Given the description of an element on the screen output the (x, y) to click on. 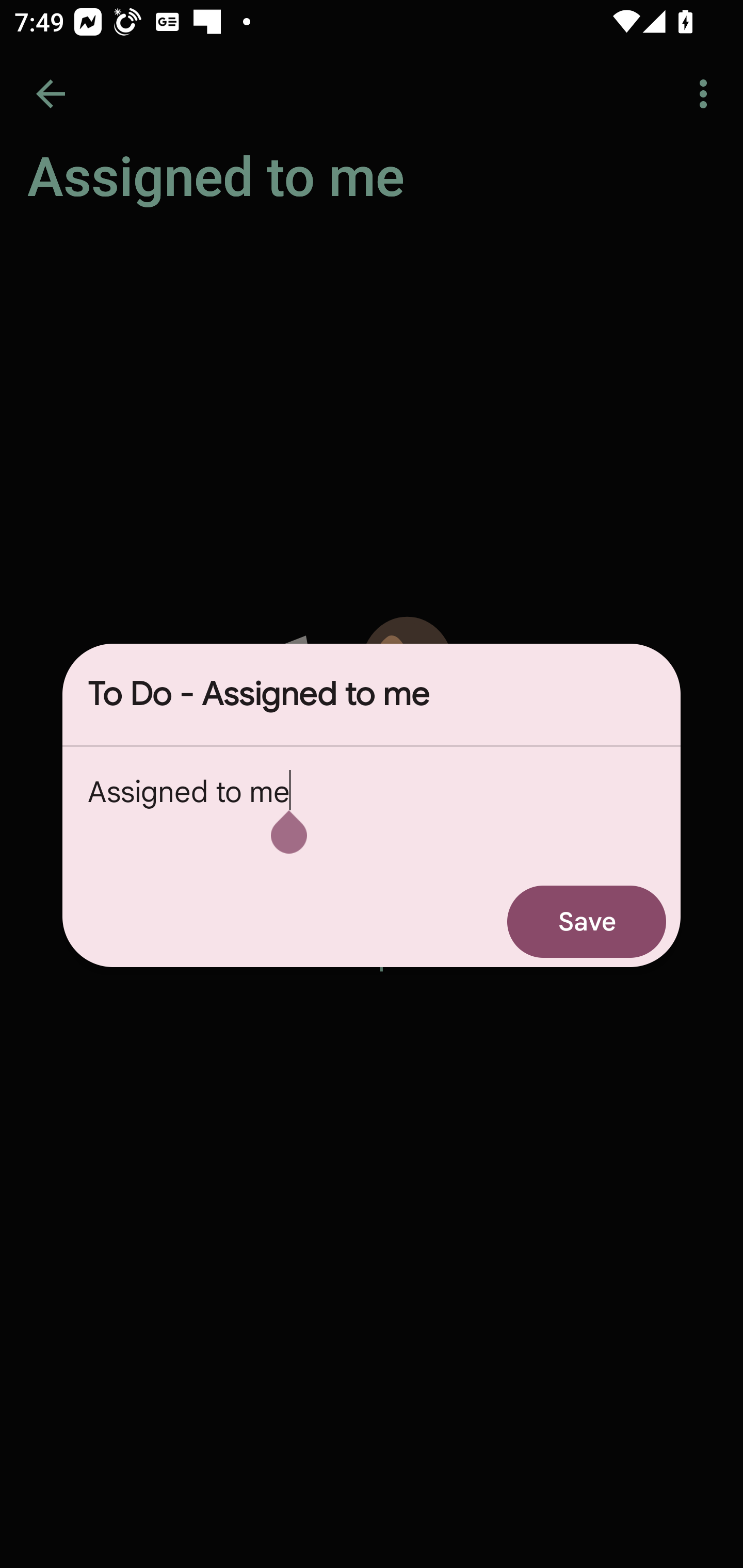
To Do - Assigned to me (371, 694)
Assigned to me
 (371, 811)
Save (586, 921)
